Given the description of an element on the screen output the (x, y) to click on. 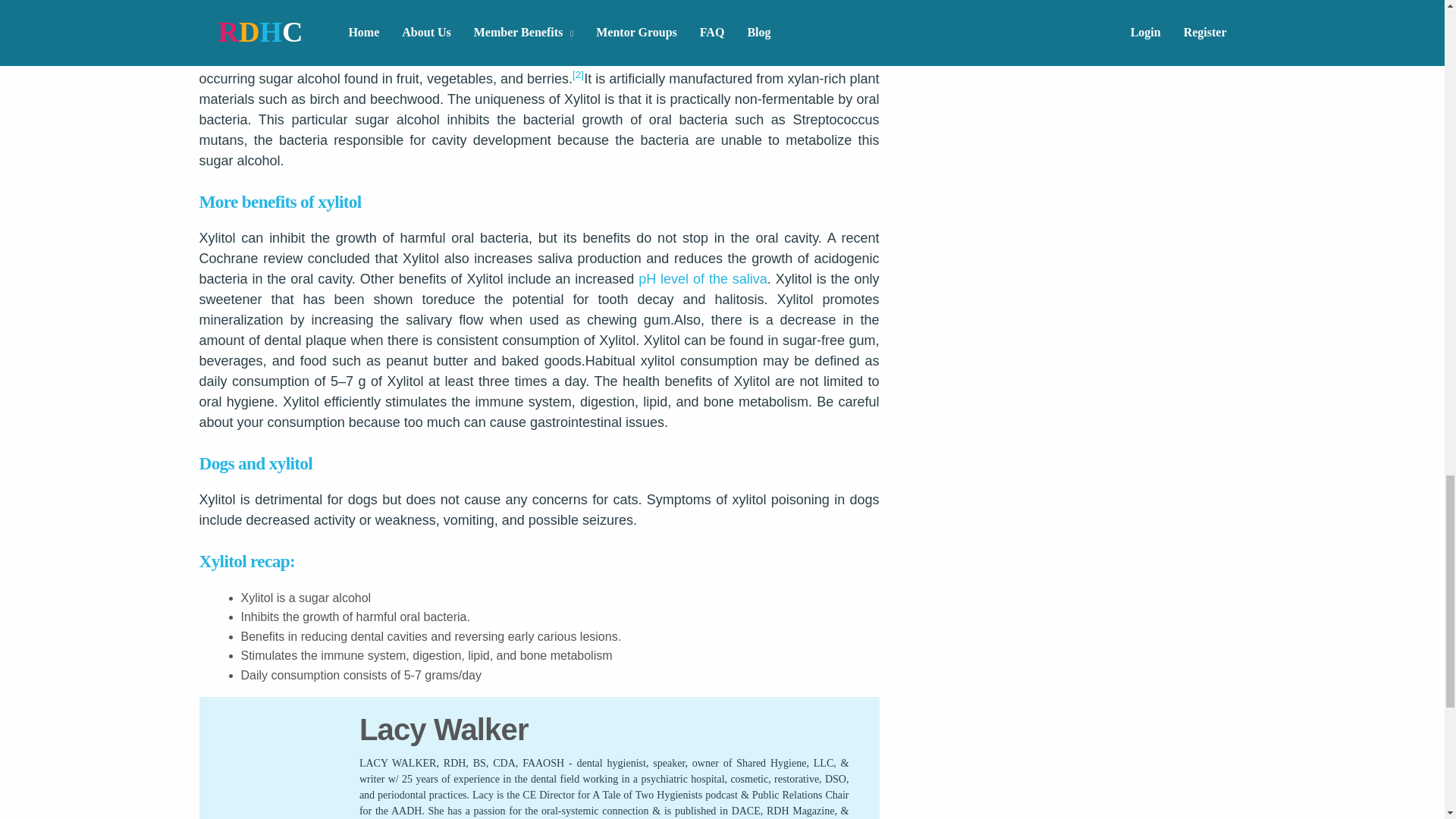
reducing dental cavities (630, 37)
pH level of the saliva (703, 278)
